Given the description of an element on the screen output the (x, y) to click on. 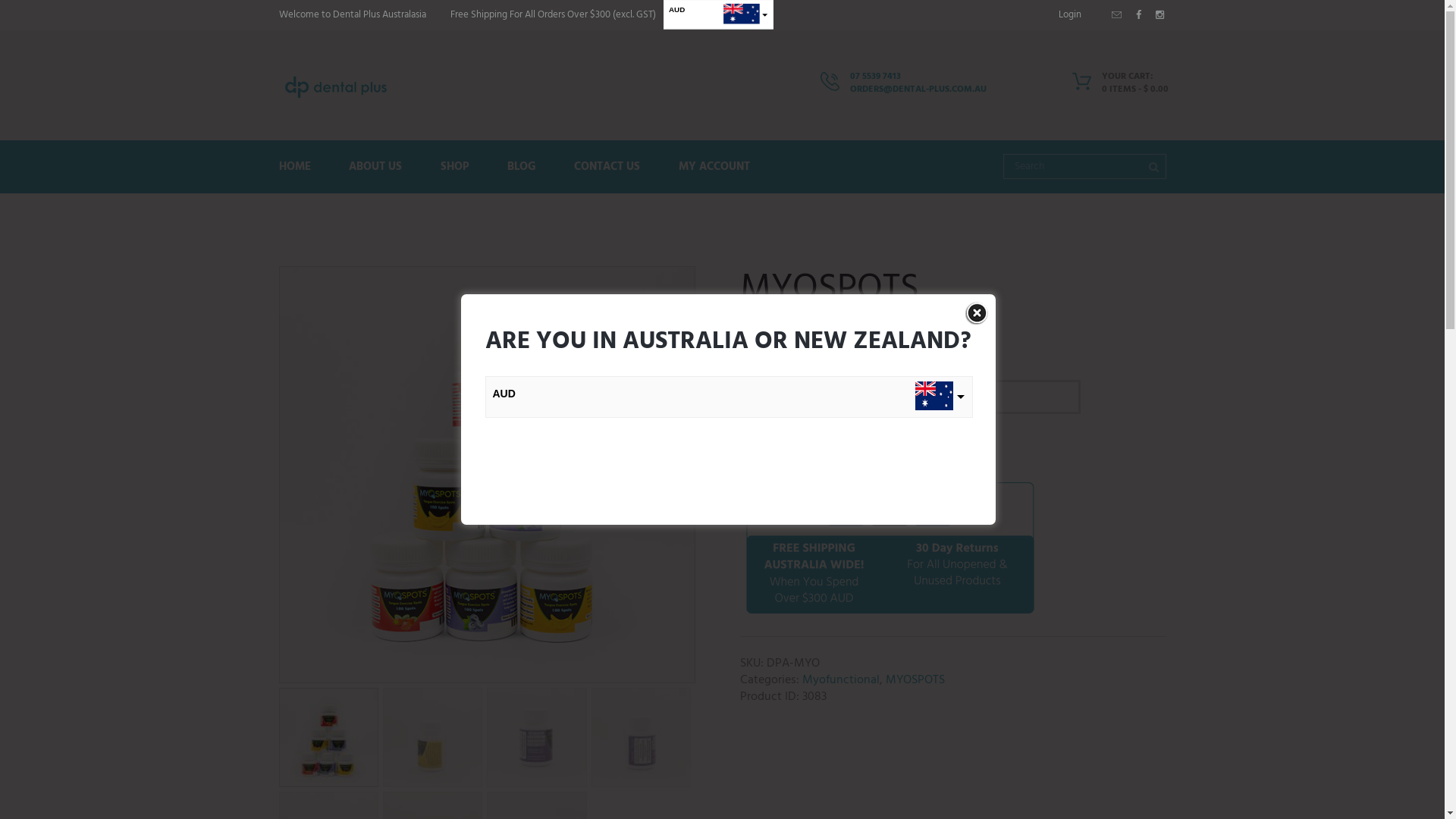
Login Element type: text (1069, 14)
Qty Element type: hover (770, 446)
BLOG Element type: text (521, 166)
Myospots-bottle-side-2-banana Element type: hover (902, 474)
Start search Element type: hover (1151, 165)
ORDERS@DENTAL-PLUS.COM.AU Element type: text (918, 89)
HOME Element type: text (304, 166)
ABOUT US Element type: text (375, 166)
MYOSPOTS Element type: text (914, 680)
ADD TO CART Element type: text (865, 446)
Myospots_all_600x600 Element type: hover (486, 474)
MY ACCOUNT Element type: text (714, 166)
SHOP Element type: text (454, 166)
CONTACT US Element type: text (607, 166)
07 5539 7413 Element type: text (875, 76)
YOUR CART:
0 ITEMS - $ 0.00 Element type: text (1115, 86)
Myofunctional Element type: text (840, 680)
